Given the description of an element on the screen output the (x, y) to click on. 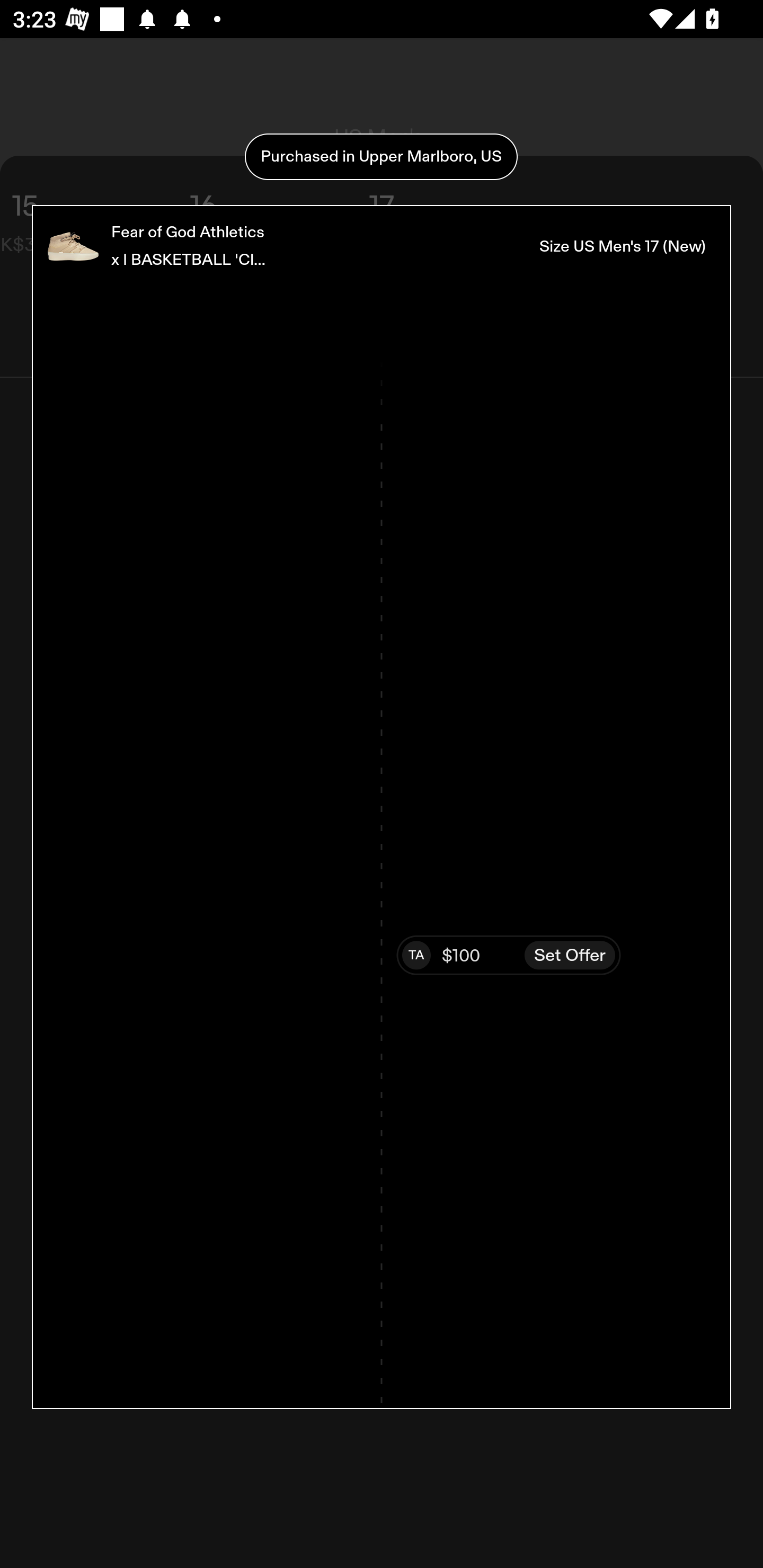
Purchased in Upper Marlboro, US (380, 156)
